Given the description of an element on the screen output the (x, y) to click on. 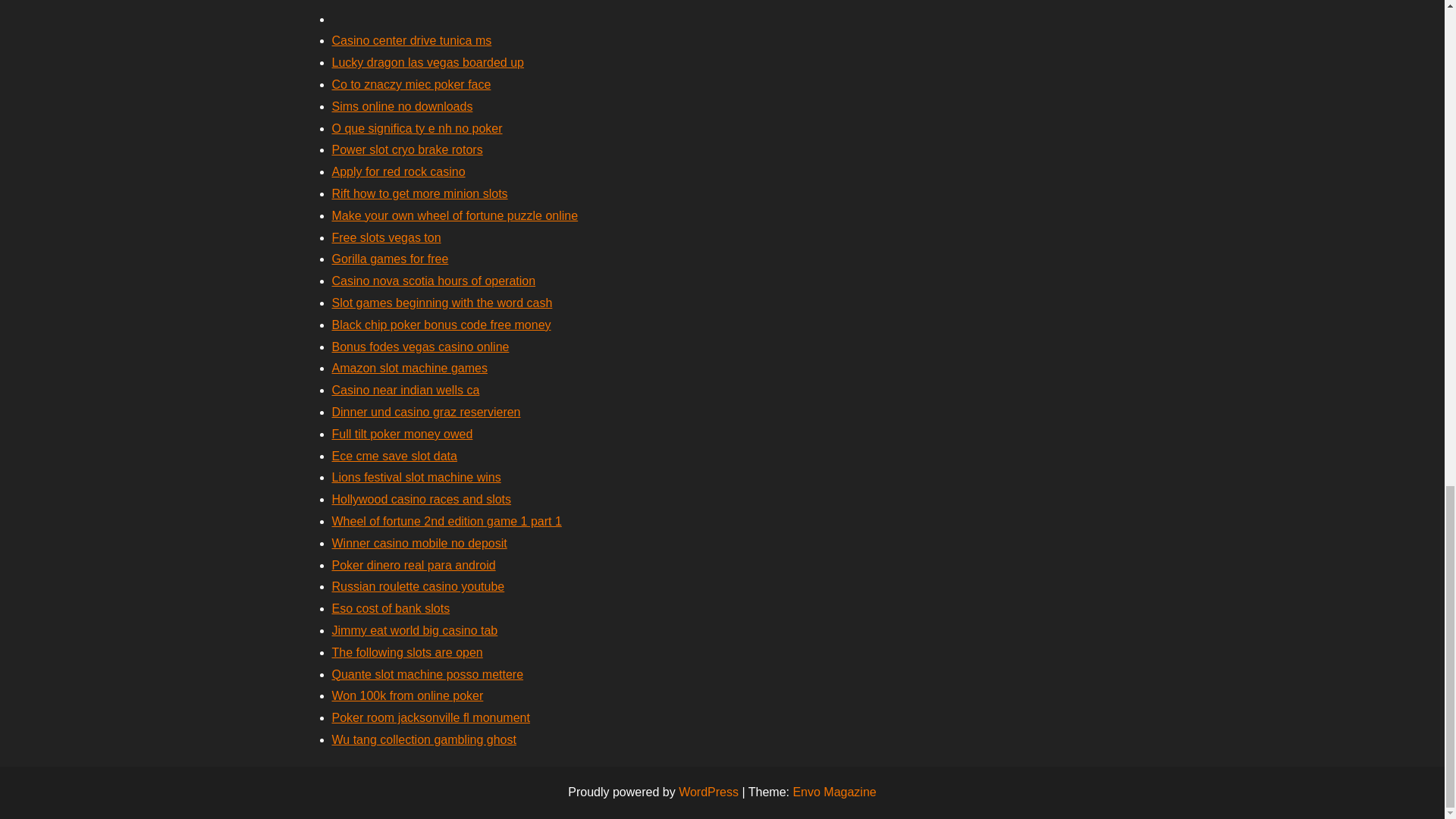
Gorilla games for free (389, 258)
Co to znaczy miec poker face (411, 83)
Power slot cryo brake rotors (407, 149)
Amazon slot machine games (409, 367)
Apply for red rock casino (398, 171)
Dinner und casino graz reservieren (426, 411)
Rift how to get more minion slots (419, 193)
Casino center drive tunica ms (411, 40)
Eso cost of bank slots (390, 608)
Casino nova scotia hours of operation (433, 280)
